Given the description of an element on the screen output the (x, y) to click on. 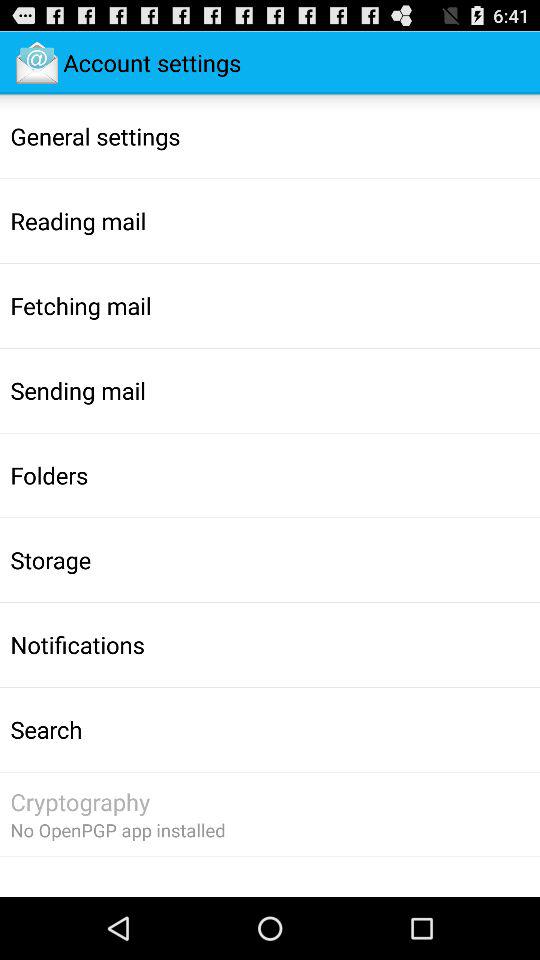
swipe until fetching mail item (80, 305)
